Given the description of an element on the screen output the (x, y) to click on. 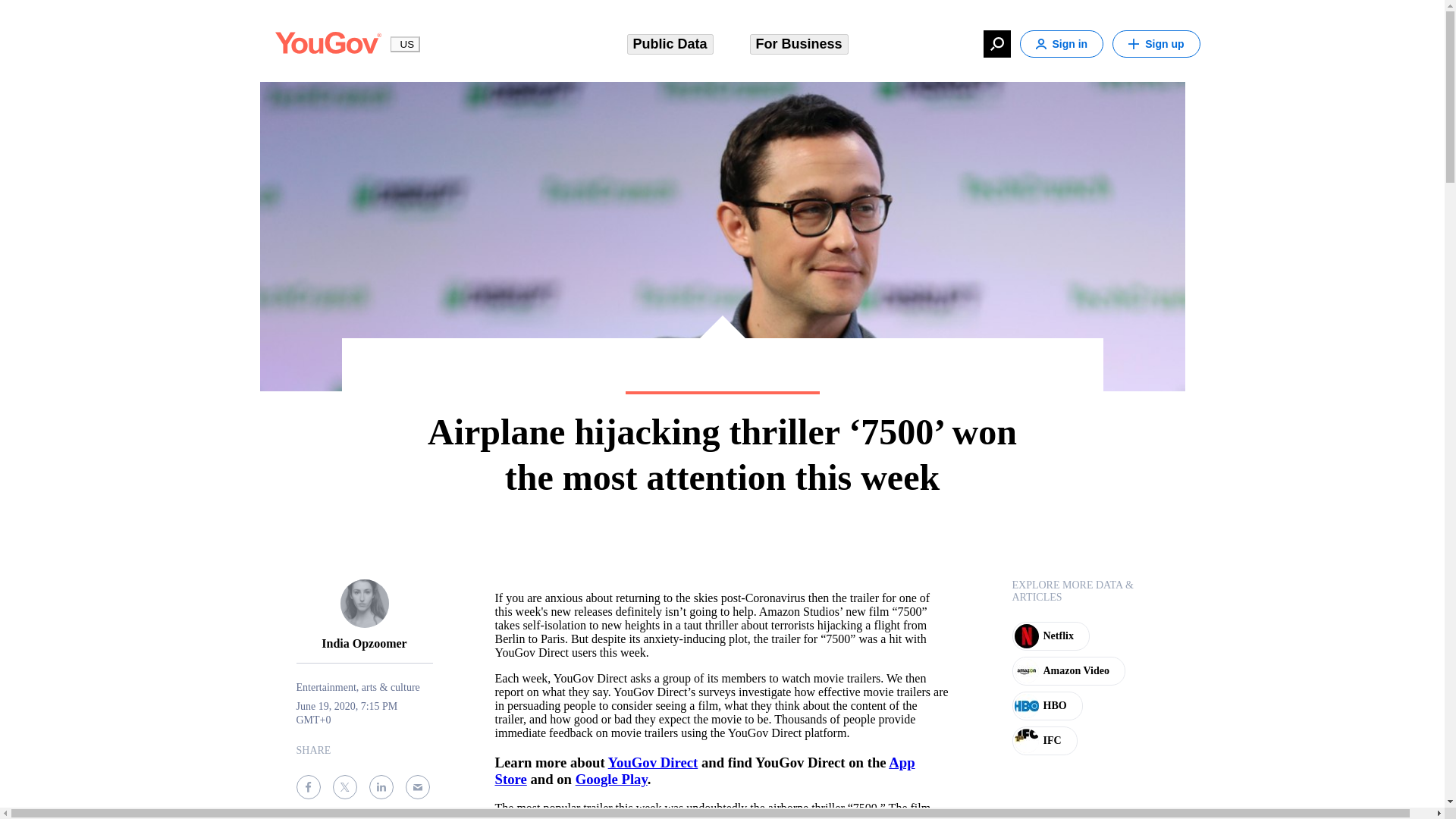
US (405, 44)
Sign in (1061, 43)
Sign up (1155, 43)
Public Data (669, 43)
For Business (798, 43)
